Given the description of an element on the screen output the (x, y) to click on. 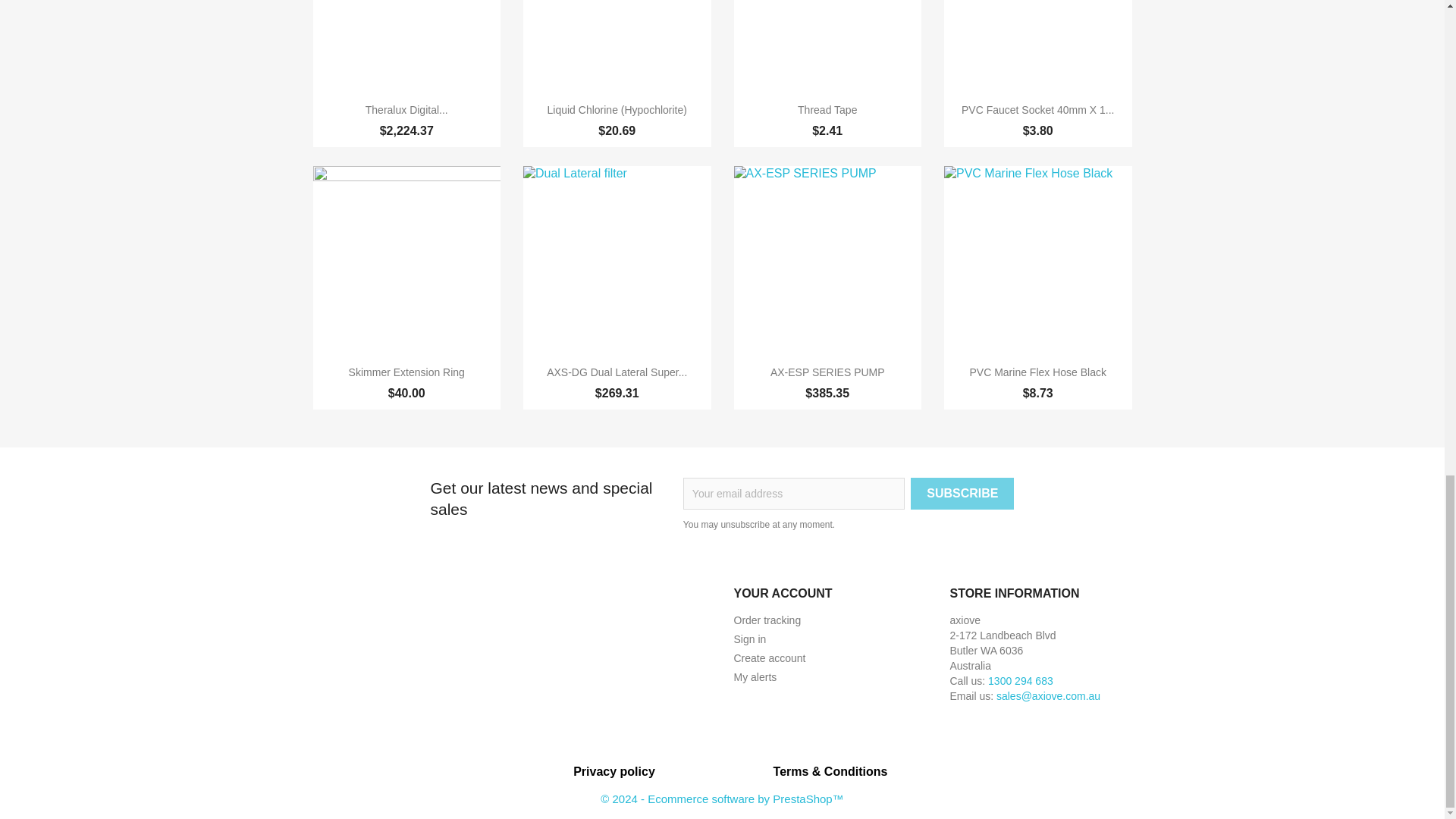
Subscribe (962, 493)
Order tracking (767, 620)
My alerts (755, 676)
Log in to your customer account (750, 639)
Create account (769, 657)
